Given the description of an element on the screen output the (x, y) to click on. 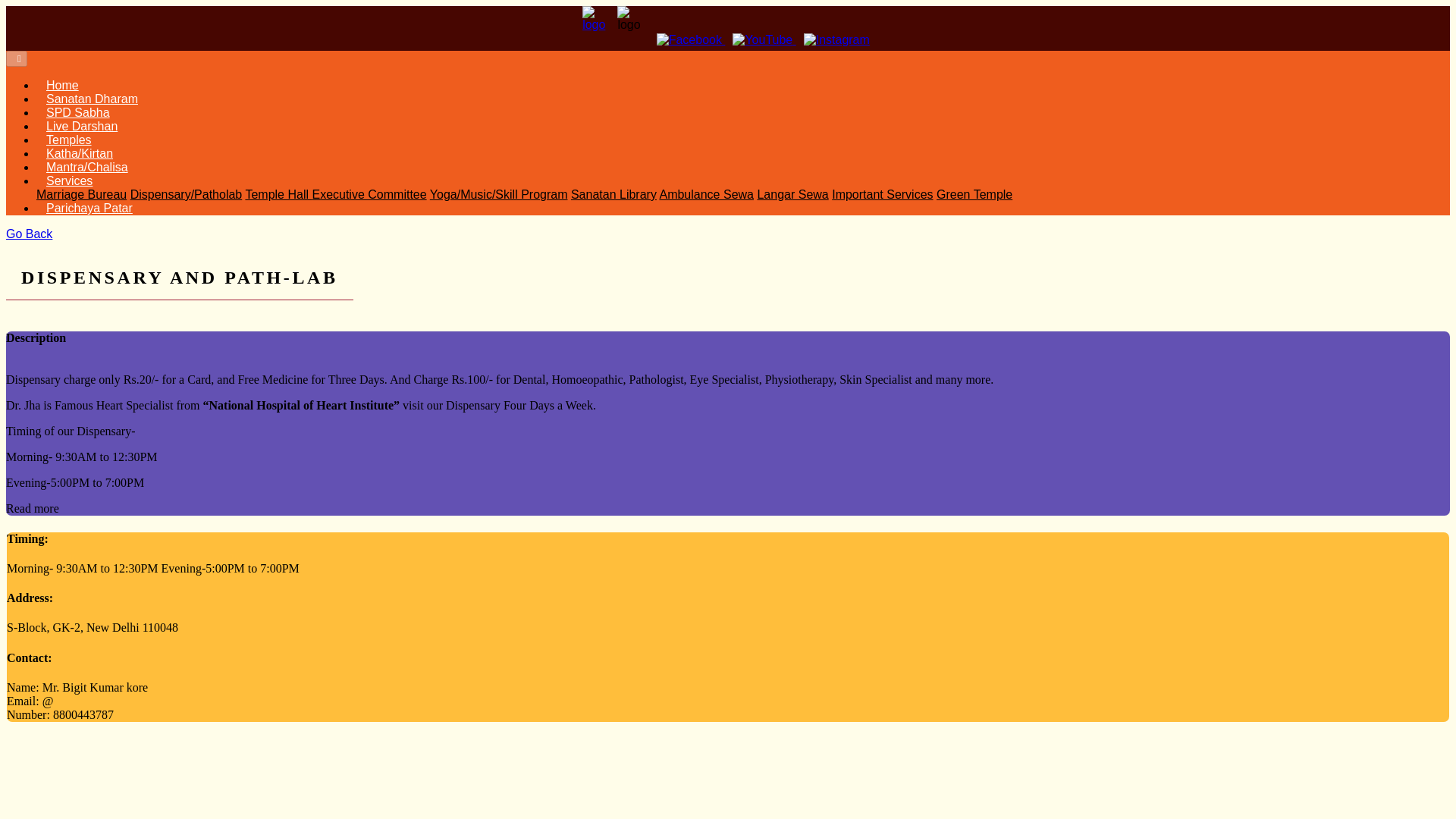
Home (62, 84)
Langar Sewa (792, 194)
Services (69, 180)
Parichaya Patar (89, 207)
Read more (32, 508)
Green Temple (973, 194)
Sanatan Library (613, 194)
Temple Hall (277, 194)
Live Darshan (81, 125)
Ambulance Sewa (706, 194)
SPD Sabha (78, 112)
Sanatan Dharam (92, 98)
Go Back (28, 233)
Marriage Bureau (81, 194)
Executive Committee (368, 194)
